Given the description of an element on the screen output the (x, y) to click on. 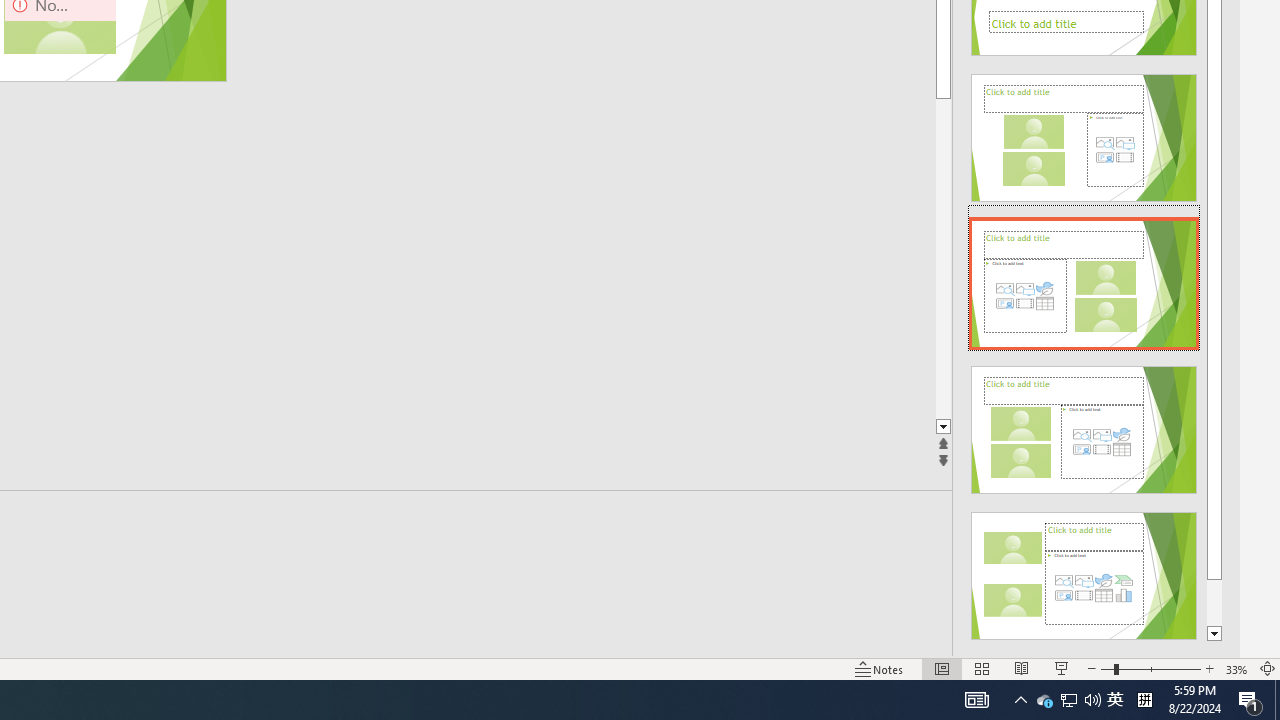
Zoom 33% (1236, 668)
